Given the description of an element on the screen output the (x, y) to click on. 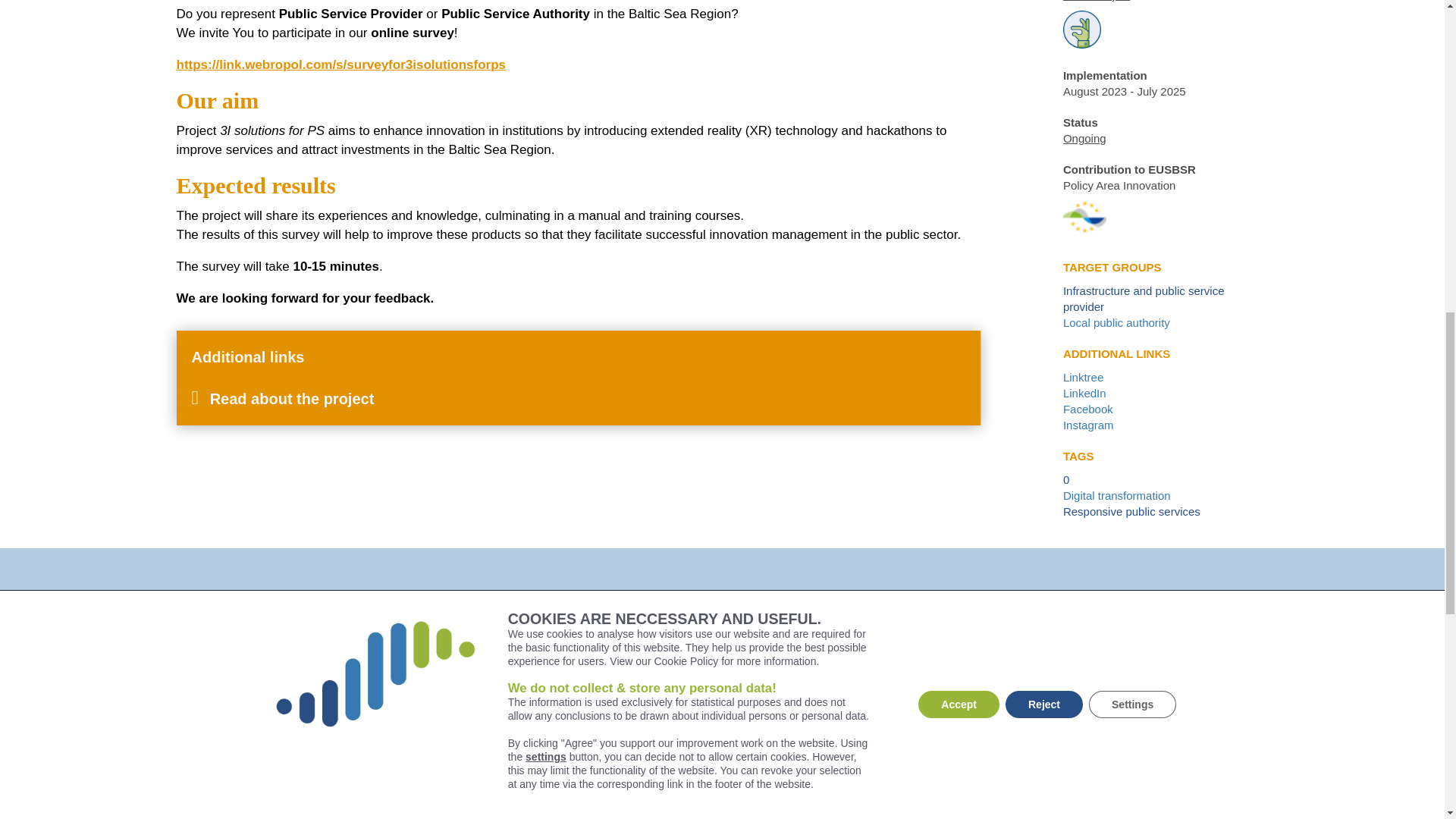
Follow on Instagram (1050, 655)
Follow on LinkedIn (941, 655)
logo (589, 736)
Follow on X (1013, 655)
Follow on Youtube (1086, 655)
Follow on Facebook (977, 655)
